Given the description of an element on the screen output the (x, y) to click on. 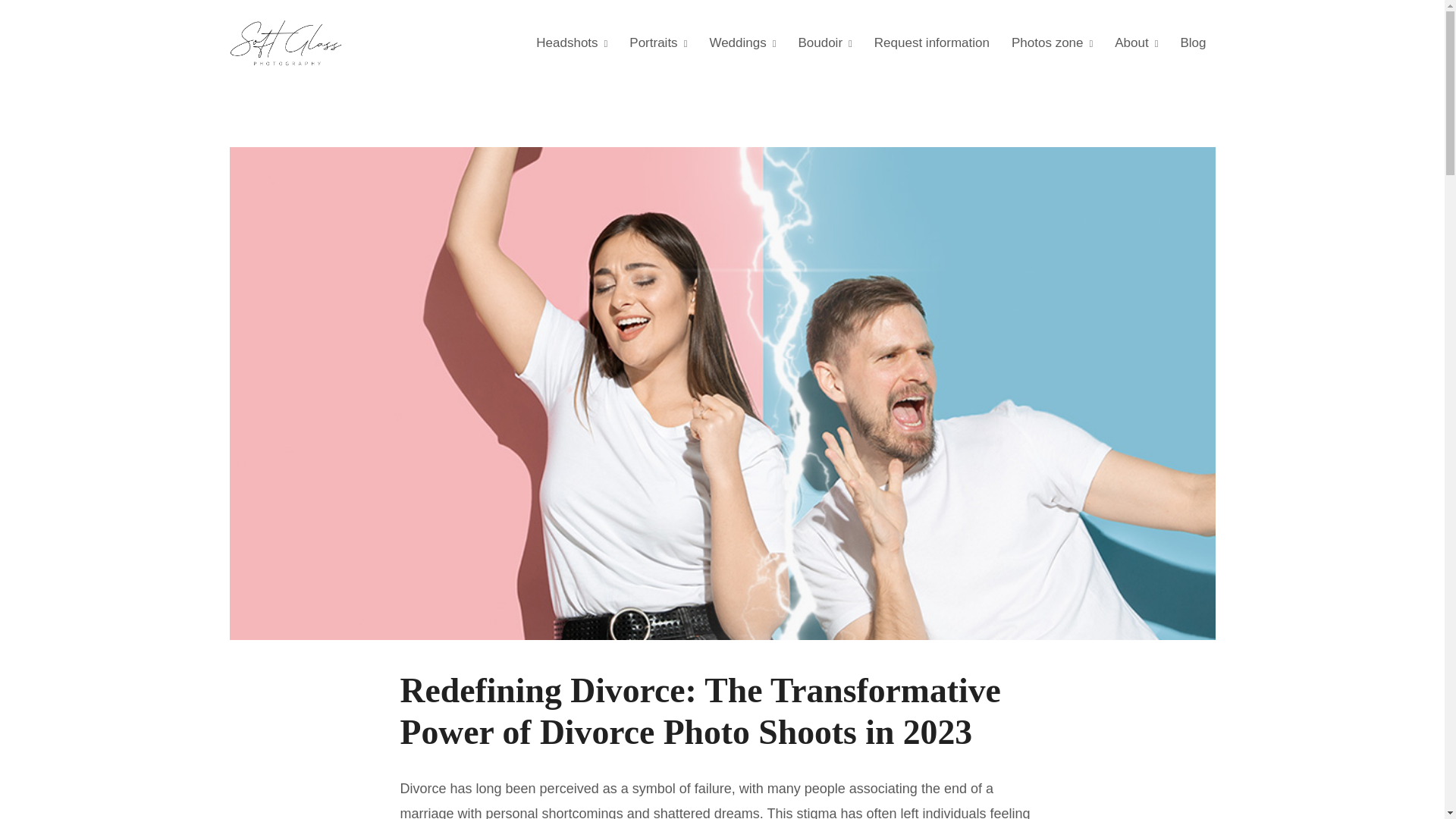
Blog (1192, 42)
Request information (931, 42)
